Given the description of an element on the screen output the (x, y) to click on. 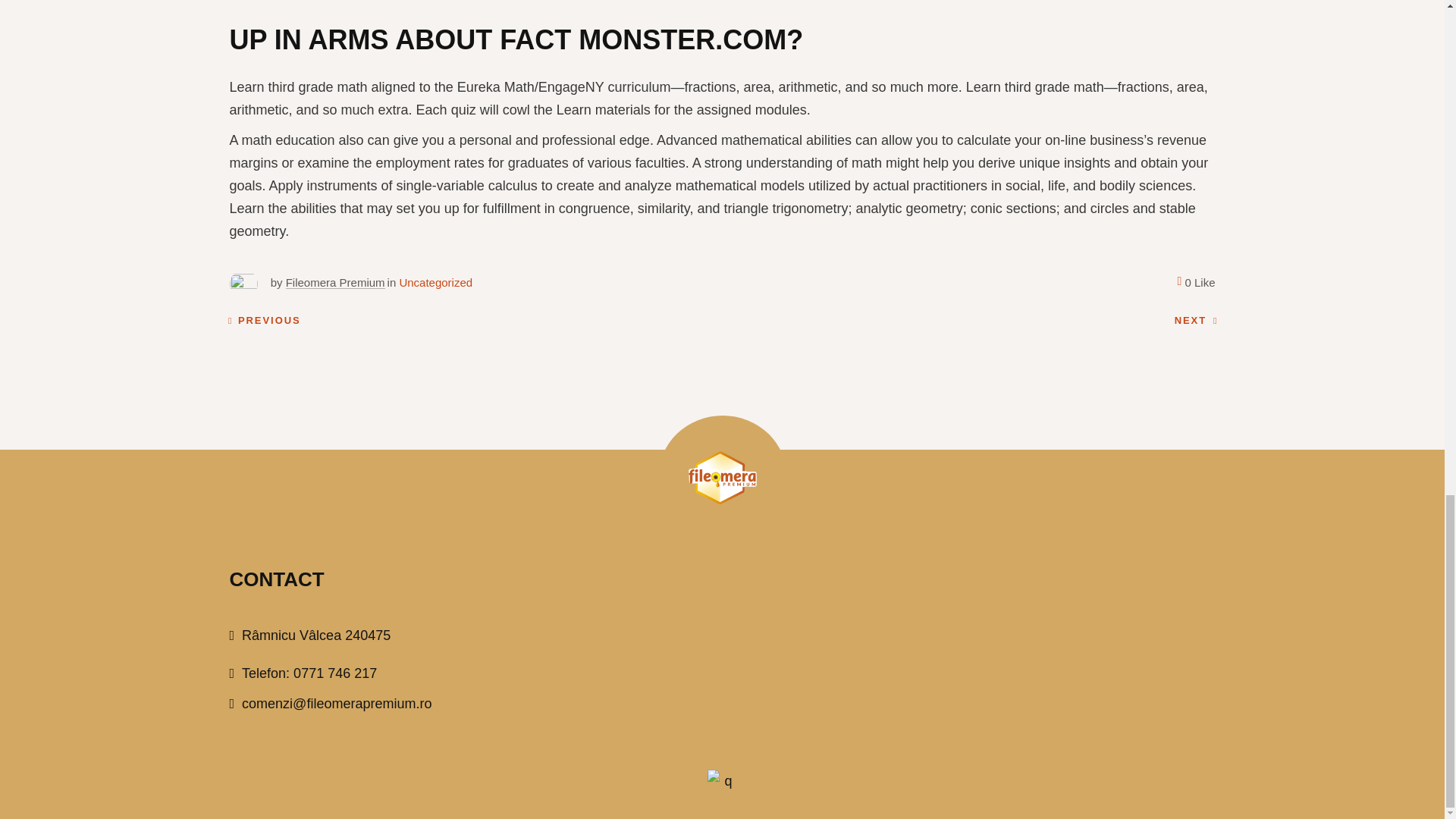
Fileomera Premium (335, 282)
0 Like (1195, 282)
Like this (1195, 282)
Uncategorized (434, 282)
NEXT (1195, 320)
Telefon: 0771 746 217 (302, 673)
PREVIOUS (263, 320)
